Given the description of an element on the screen output the (x, y) to click on. 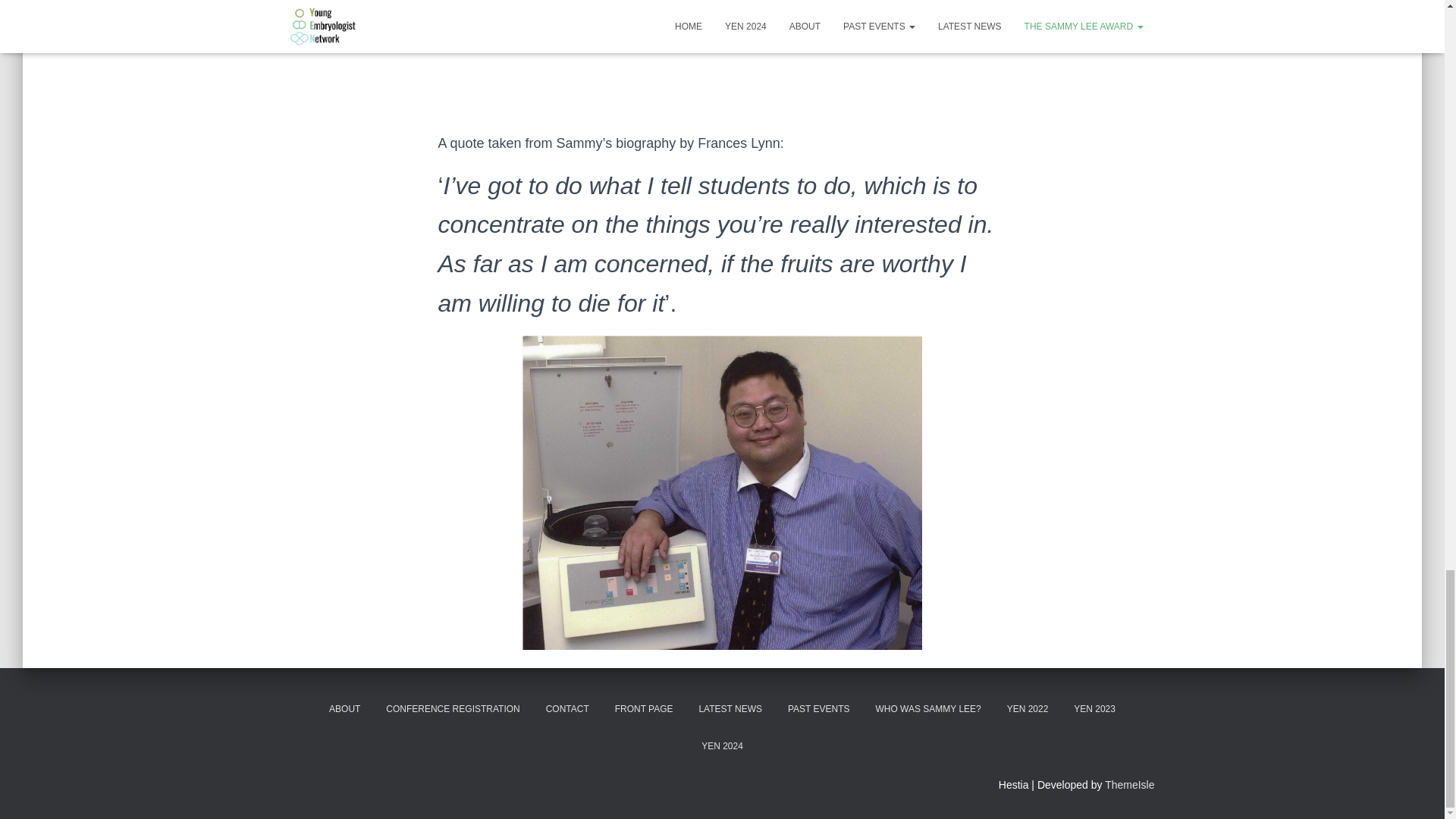
YEN 2022 (1027, 709)
WHO WAS SAMMY LEE? (927, 709)
ThemeIsle (1129, 784)
FRONT PAGE (644, 709)
CONFERENCE REGISTRATION (452, 709)
ABOUT (344, 709)
PAST EVENTS (818, 709)
More about the Sammy Lee Award (721, 43)
YEN 2023 (1094, 709)
LATEST NEWS (730, 709)
